Given the description of an element on the screen output the (x, y) to click on. 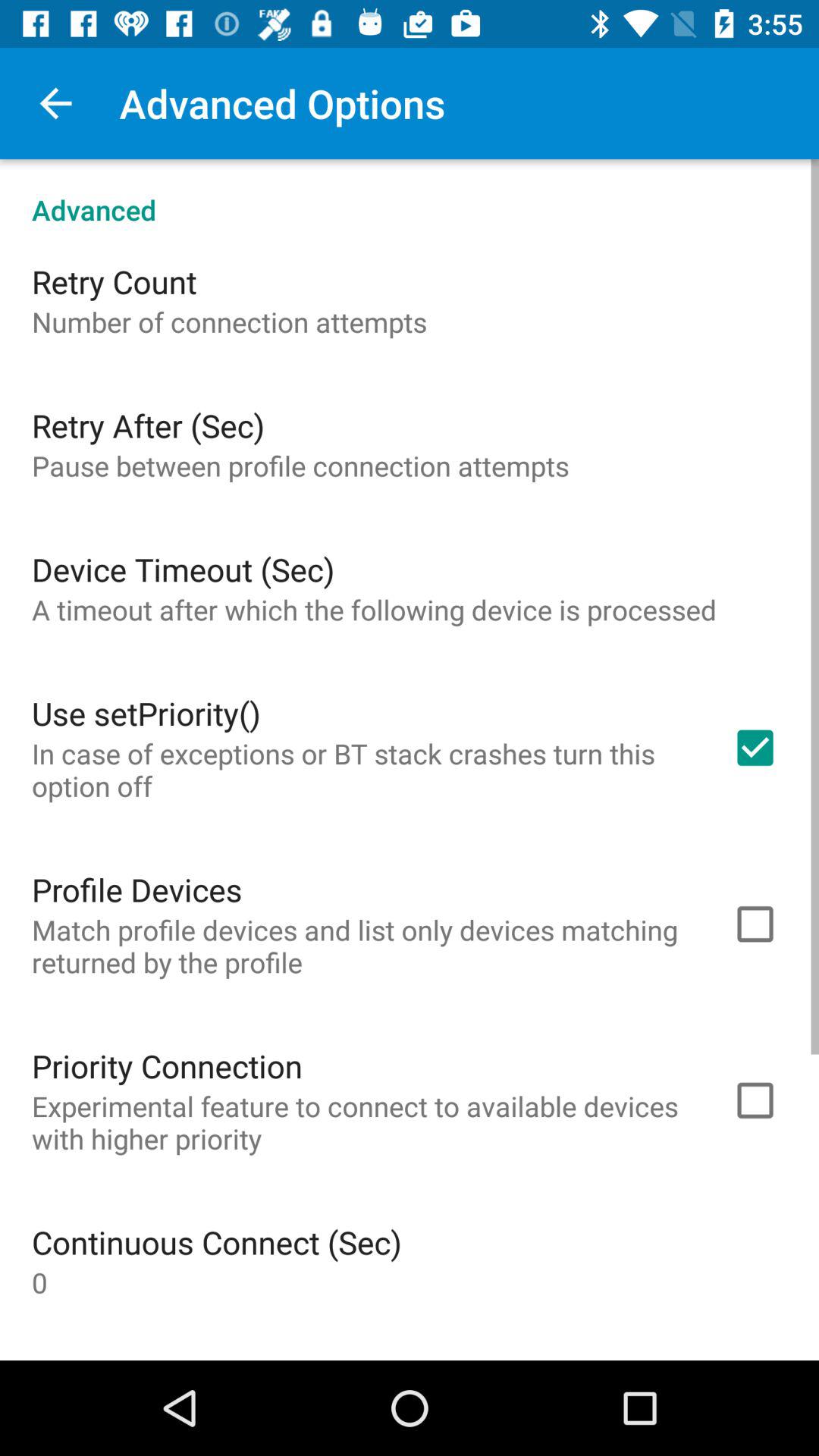
click item above the pause between profile item (147, 425)
